Given the description of an element on the screen output the (x, y) to click on. 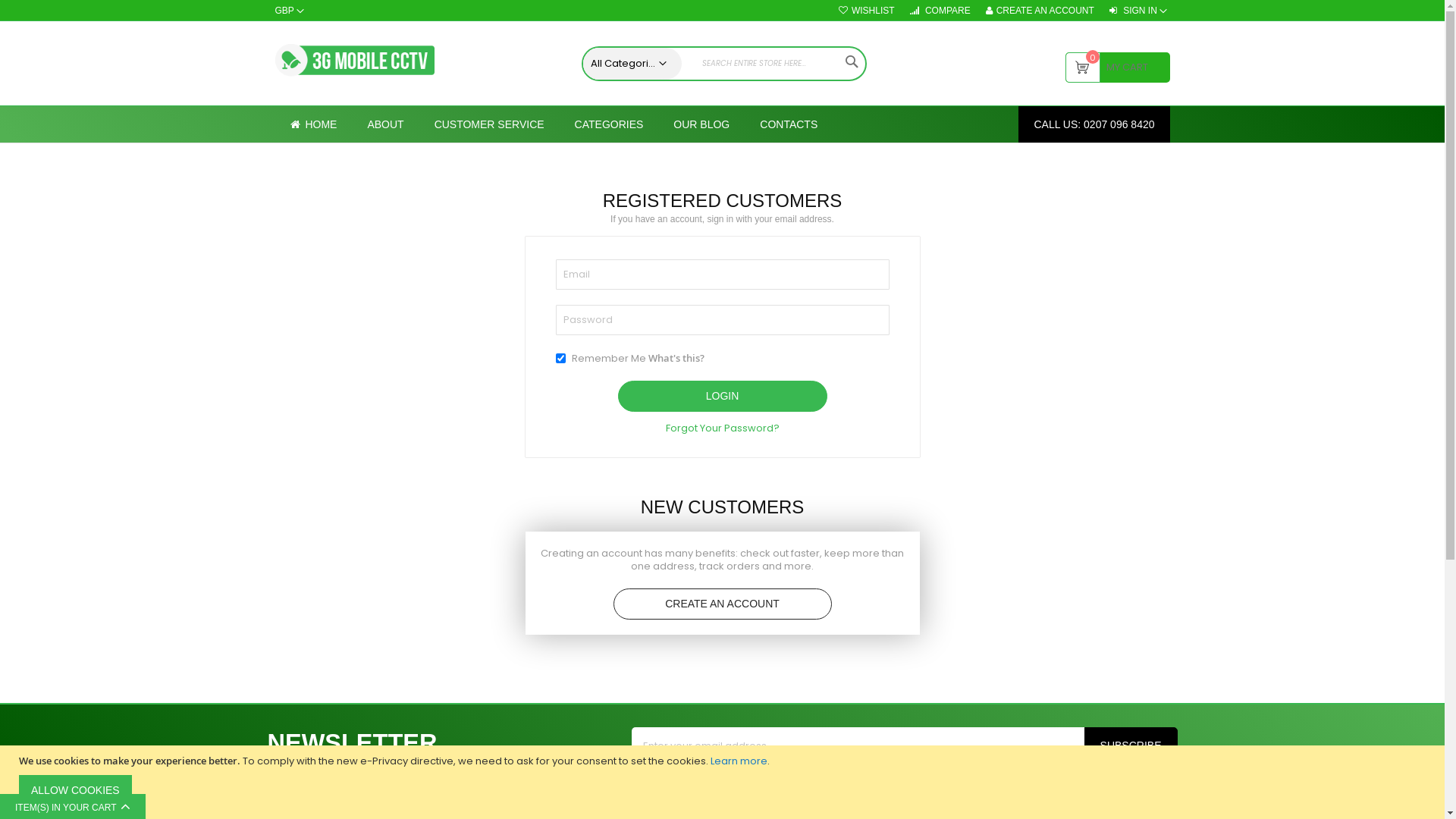
CALL US: 0207 096 8420 Element type: text (1093, 124)
OUR BLOG Element type: text (701, 124)
WISHLIST Element type: text (866, 10)
LOGIN Element type: text (721, 395)
Remember Me Element type: hover (559, 358)
ALLOW COOKIES Element type: text (74, 790)
Forgot Your Password? Element type: text (722, 428)
CONTACTS Element type: text (788, 124)
Learn more Element type: text (738, 760)
CREATE AN ACCOUNT Element type: text (721, 603)
COMPARE Element type: text (940, 10)
CATEGORIES Element type: text (608, 124)
SUBSCRIBE Element type: text (1130, 746)
MY CART
0 Element type: text (1116, 67)
CUSTOMER SERVICE Element type: text (489, 124)
All Categories Element type: text (627, 63)
Email Element type: hover (721, 274)
Password Element type: hover (721, 319)
ABOUT Element type: text (384, 124)
CREATE AN ACCOUNT Element type: text (1039, 10)
HOME Element type: text (312, 124)
SEARCH Element type: text (850, 61)
